Given the description of an element on the screen output the (x, y) to click on. 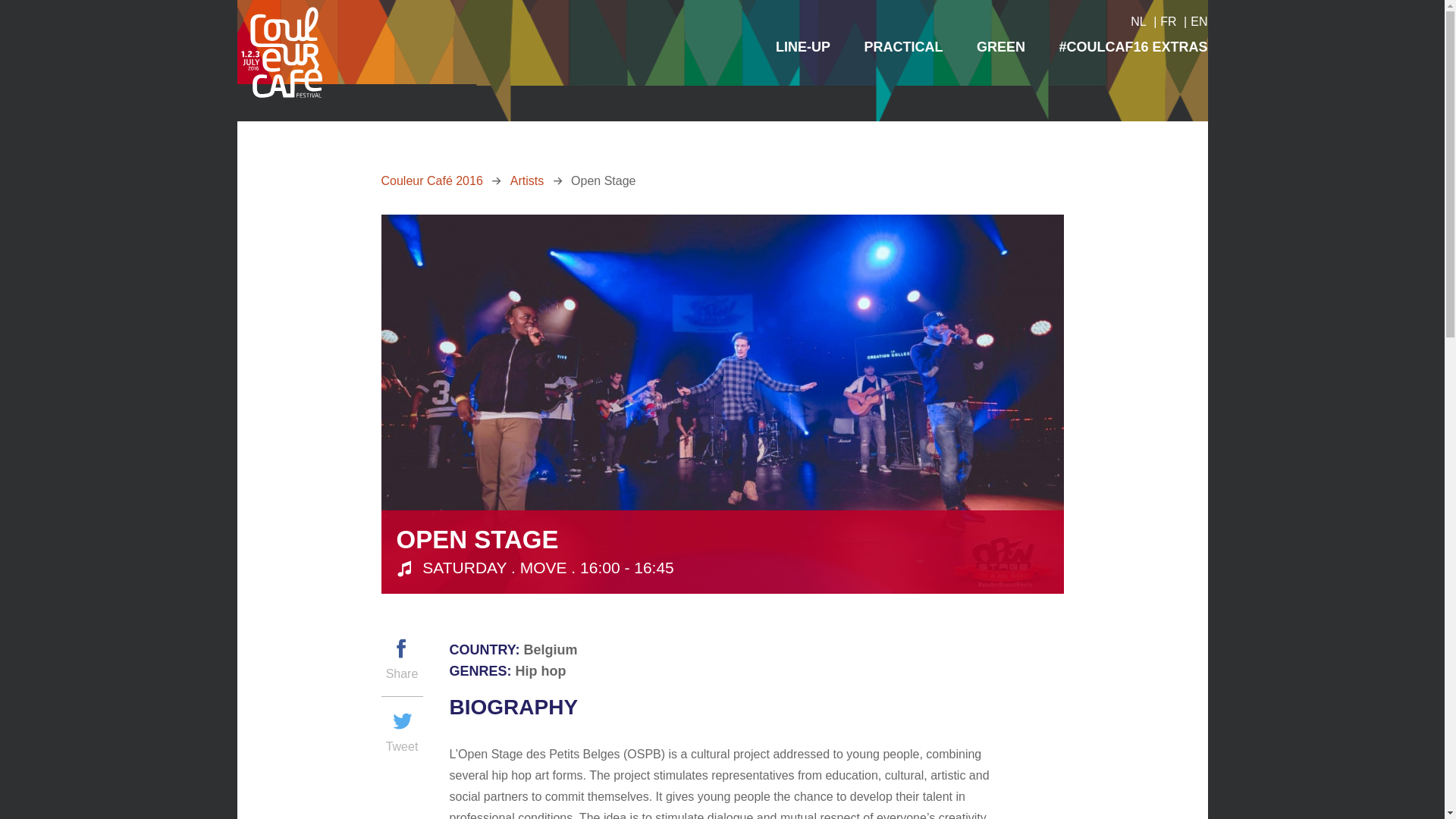
FR (1168, 21)
NL (1138, 21)
Artists (527, 180)
LINE-UP (802, 46)
PRACTICAL (903, 46)
GREEN (1000, 46)
EN (1199, 21)
